Given the description of an element on the screen output the (x, y) to click on. 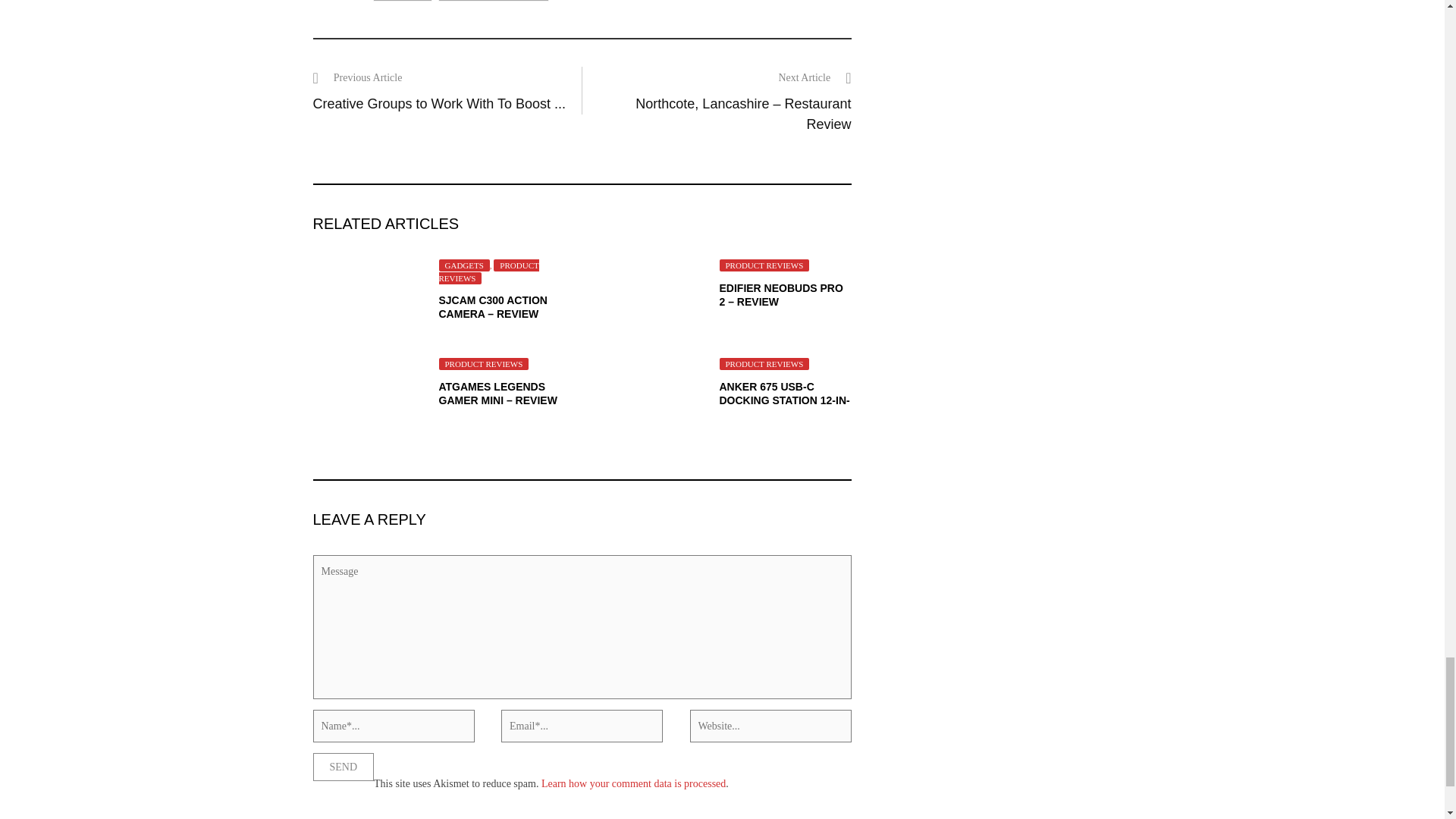
View all posts tagged Travelling Reviews (493, 1)
Send (343, 766)
View all posts tagged Gadgets (401, 1)
